Given the description of an element on the screen output the (x, y) to click on. 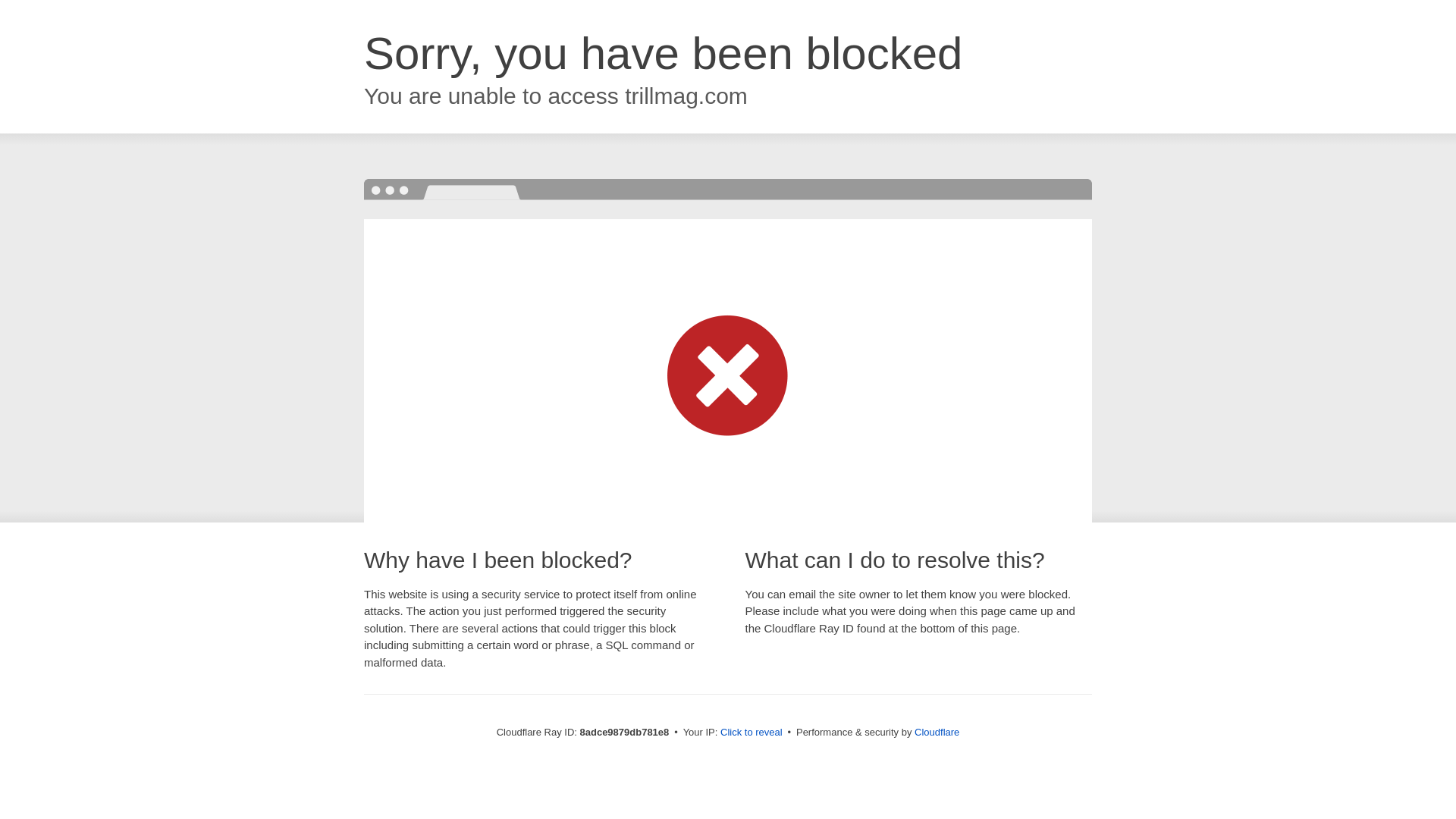
Click to reveal (751, 732)
Cloudflare (936, 731)
